Given the description of an element on the screen output the (x, y) to click on. 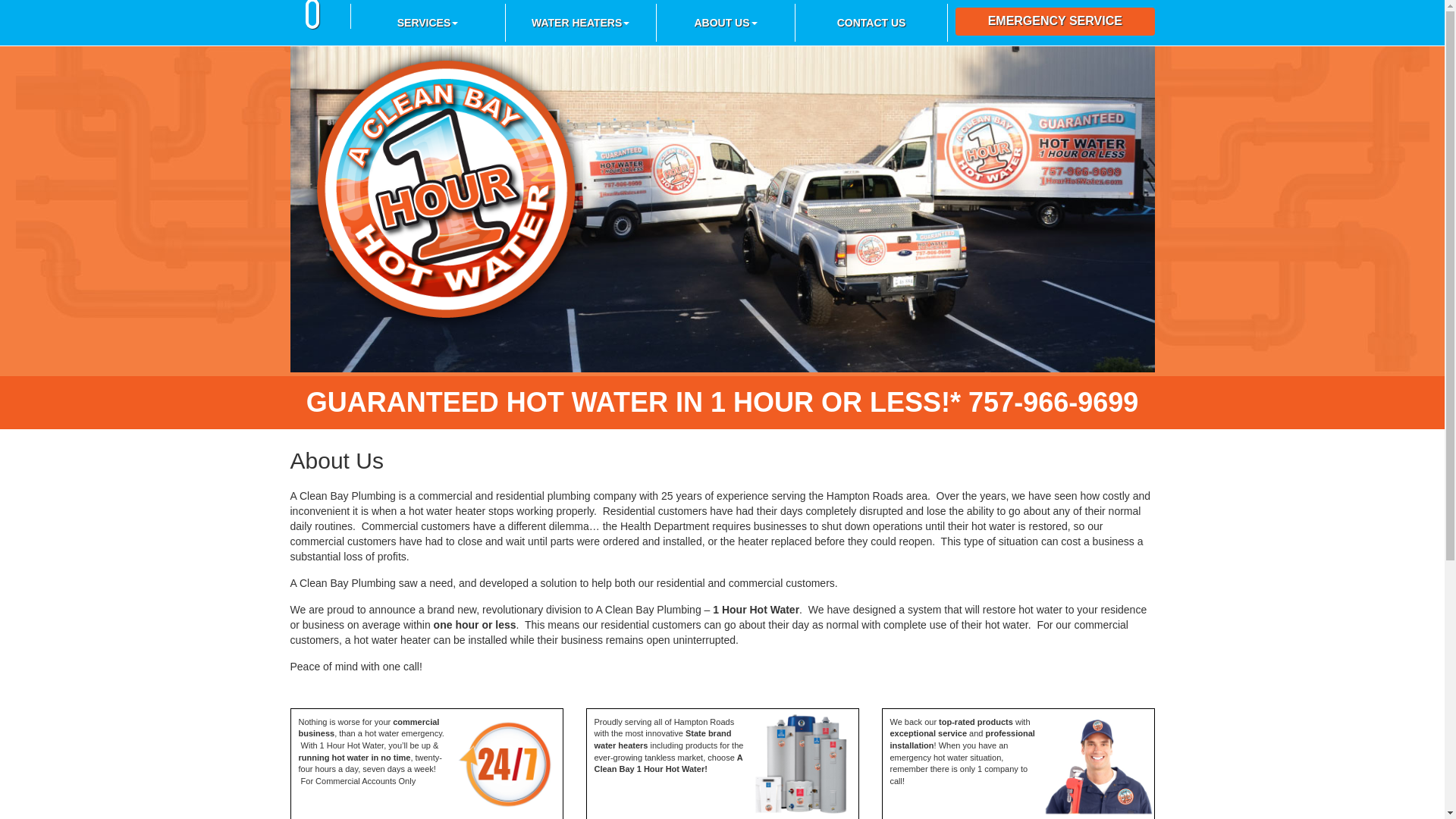
EMERGENCY SERVICE Element type: text (1054, 21)
ABOUT US Element type: text (725, 22)
SERVICES Element type: text (427, 22)
WATER HEATERS Element type: text (580, 22)
CONTACT US Element type: text (871, 22)
